Given the description of an element on the screen output the (x, y) to click on. 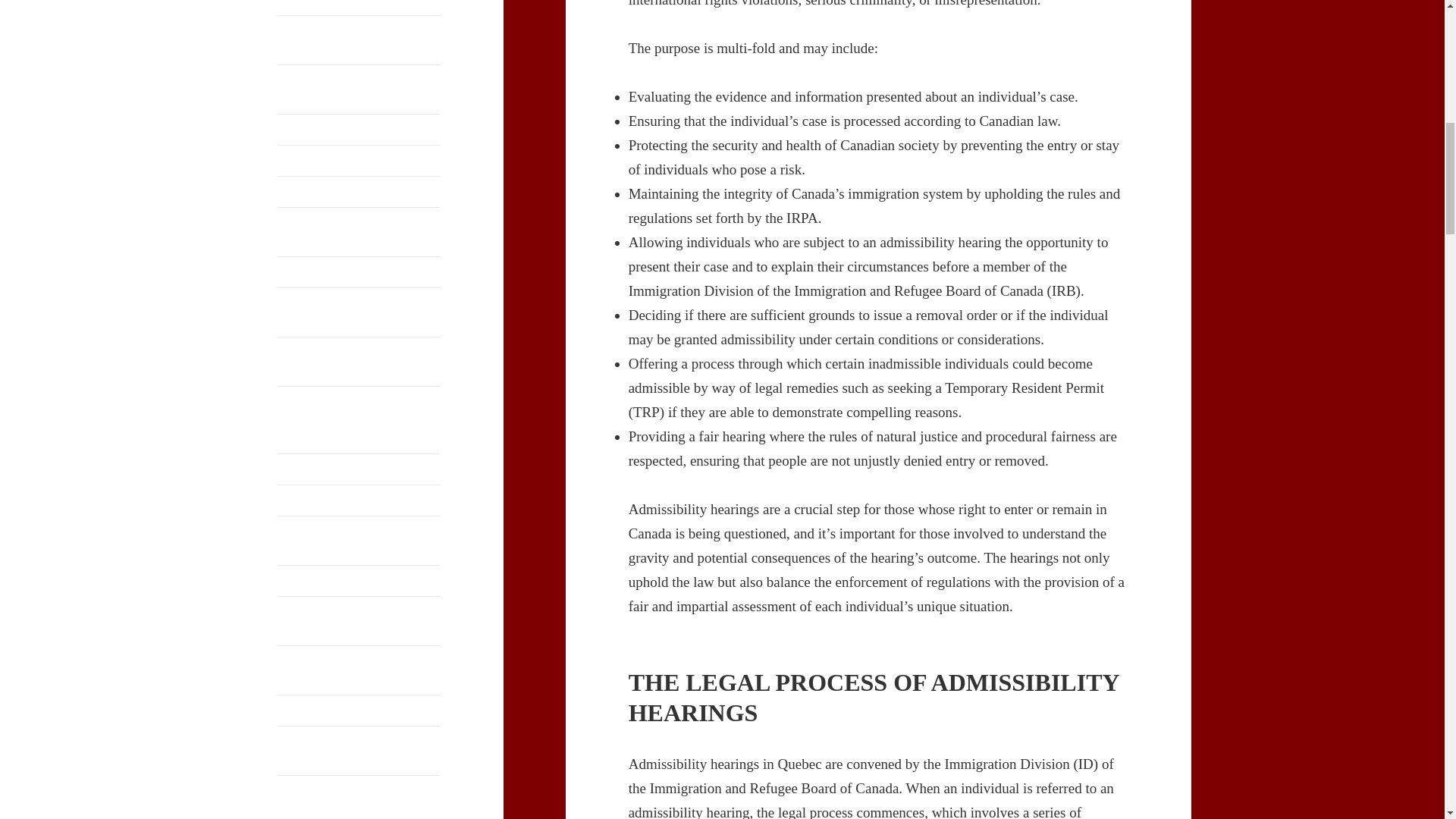
Citizenship Applications (359, 160)
Credibility Assessments (359, 272)
Family Separation Considerations (359, 670)
Expert Witness Testimony in Refugee Hearings (359, 540)
Caregiver Programs (359, 129)
Federal Self-Employed Persons Program (359, 750)
Establishment of Ties to Canada (359, 469)
Family Sponsorship (359, 710)
Best Interests of the Child Considerations (359, 7)
Factors Affecting Integration into Canadian Society (359, 621)
Express Entry (359, 580)
Convention Refugee Status (359, 191)
Documentation of Persecution and Torture (359, 361)
Excessive Demand Waivers (359, 500)
Criminal Rehabilitation Applications (359, 312)
